Given the description of an element on the screen output the (x, y) to click on. 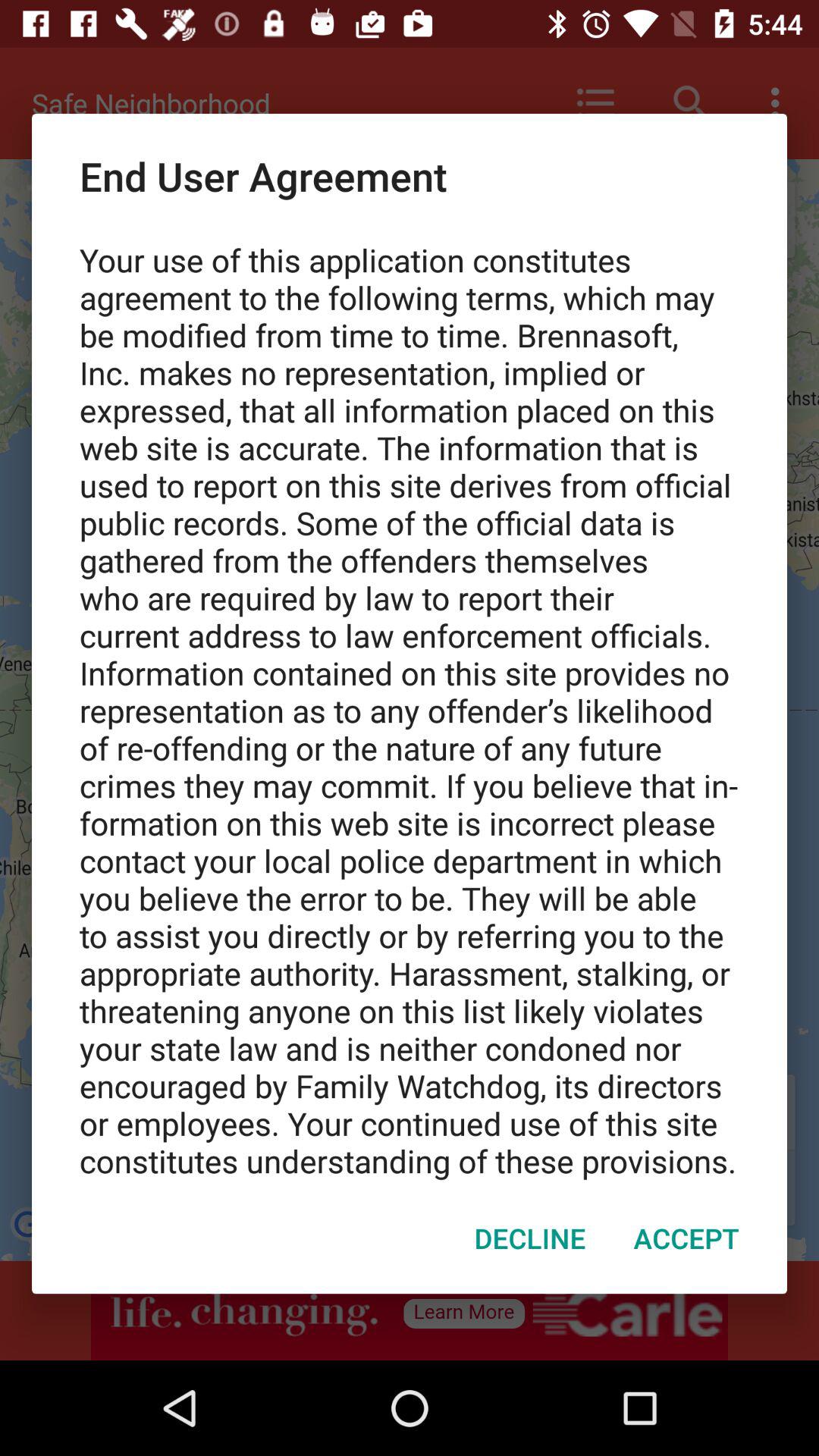
flip until accept item (686, 1237)
